Given the description of an element on the screen output the (x, y) to click on. 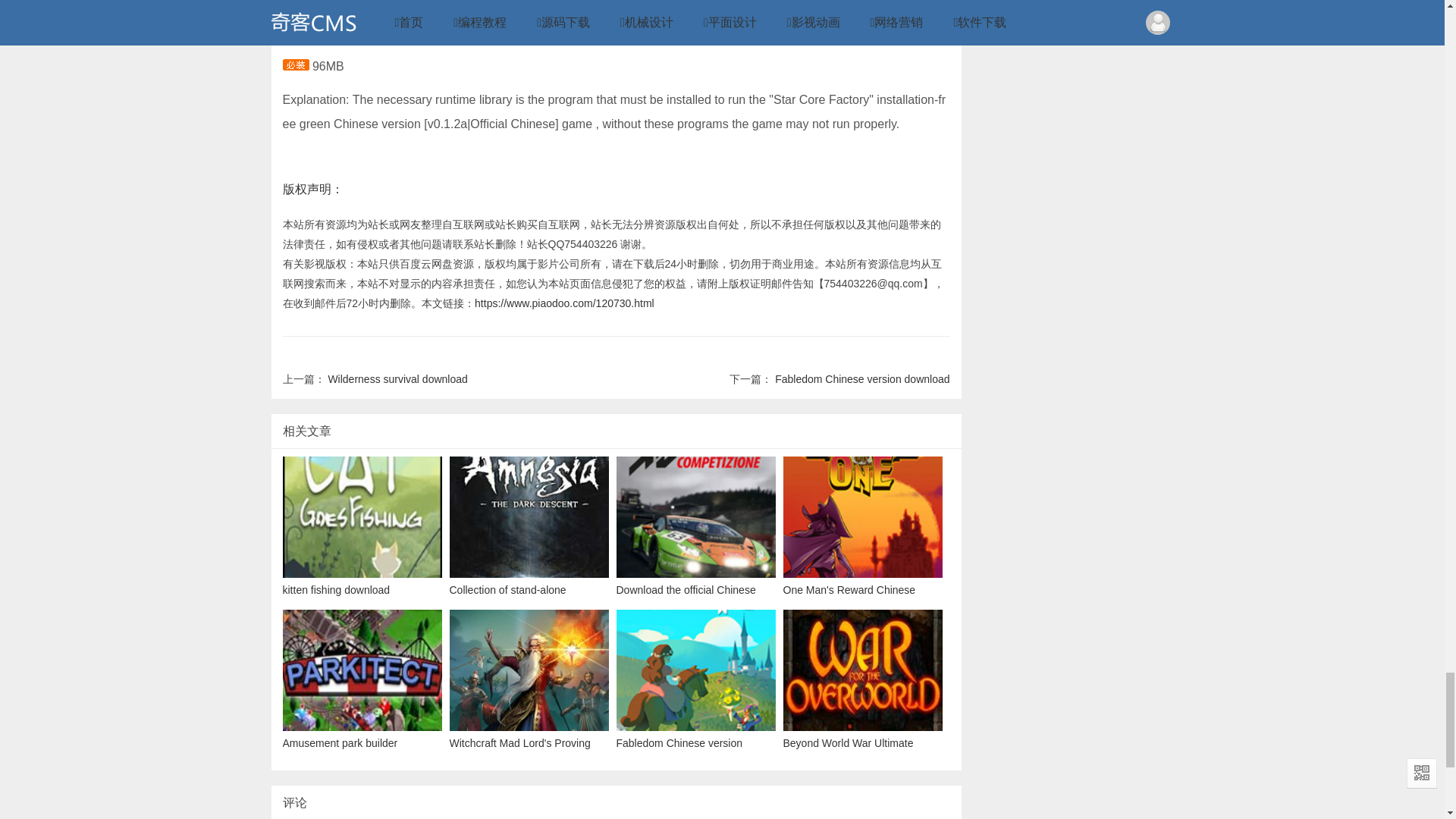
Star Core Factory Chinese version download (563, 303)
Wilderness survival download (397, 378)
Fabledom Chinese version download (861, 378)
